Given the description of an element on the screen output the (x, y) to click on. 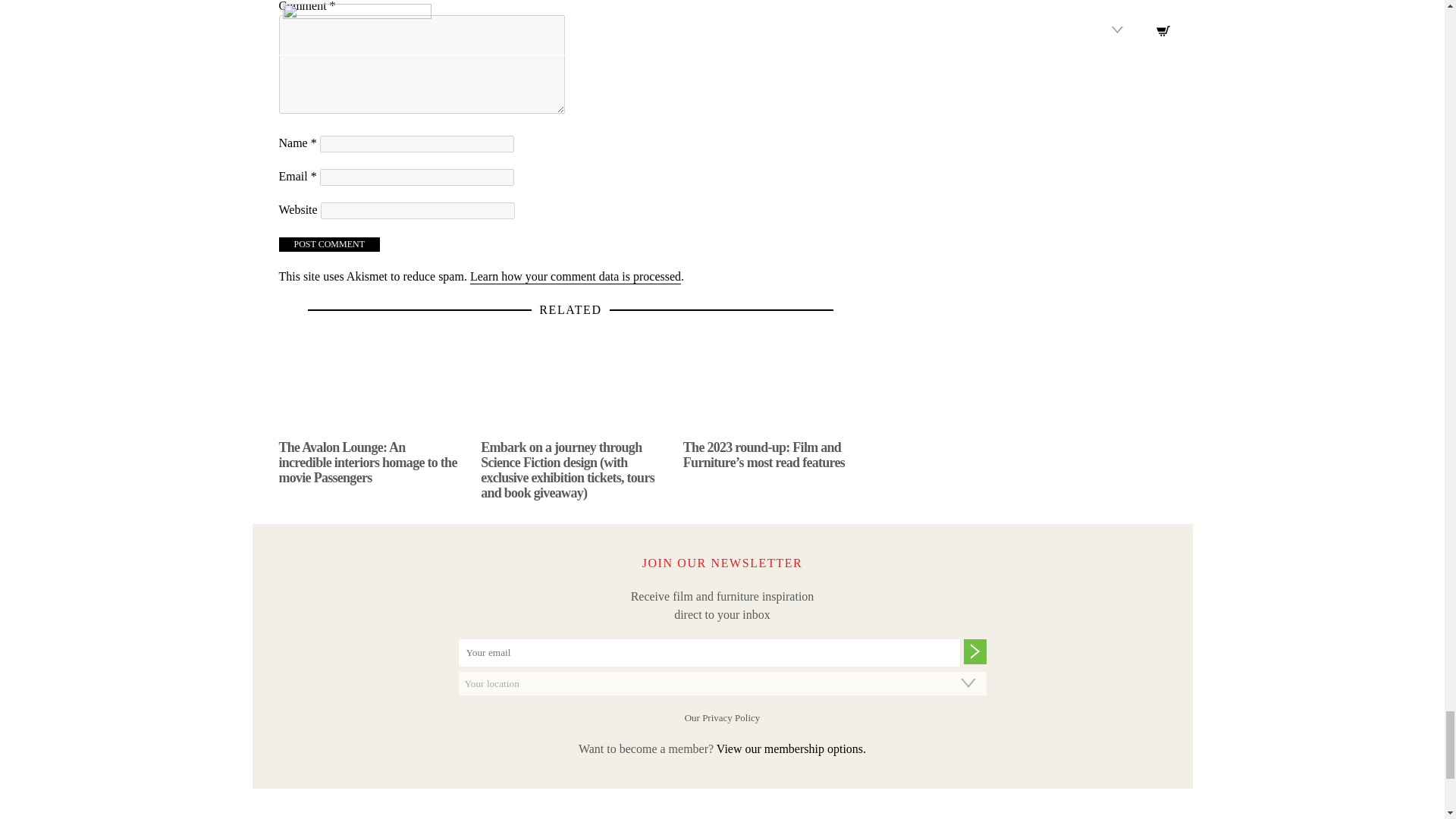
Post Comment (329, 244)
